Given the description of an element on the screen output the (x, y) to click on. 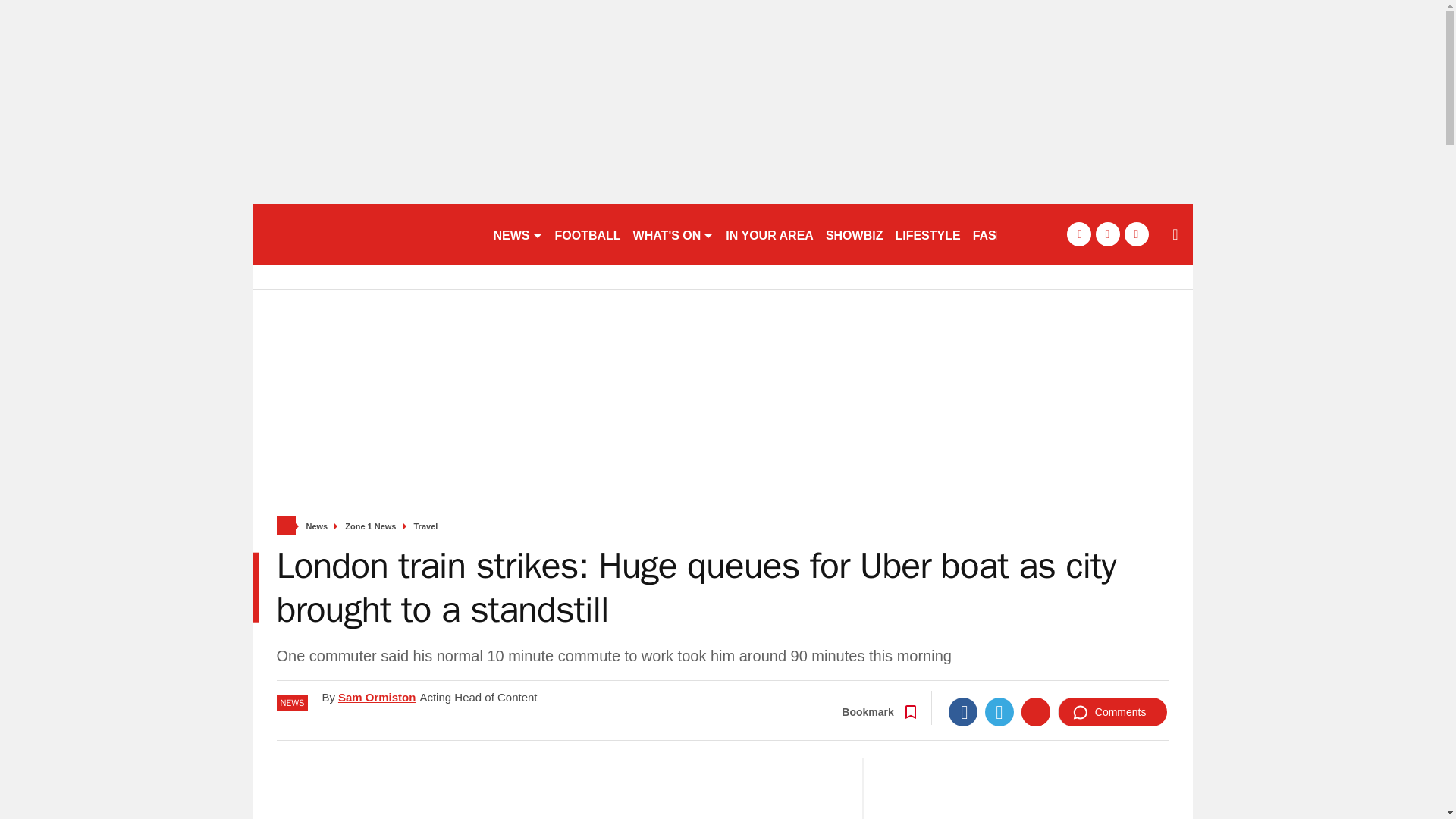
facebook (1077, 233)
getwestlondon (365, 233)
Facebook (962, 711)
LIFESTYLE (927, 233)
twitter (1106, 233)
Comments (1112, 711)
FOOTBALL (587, 233)
instagram (1136, 233)
NEWS (517, 233)
SHOWBIZ (854, 233)
IN YOUR AREA (769, 233)
Twitter (999, 711)
WHAT'S ON (673, 233)
